Given the description of an element on the screen output the (x, y) to click on. 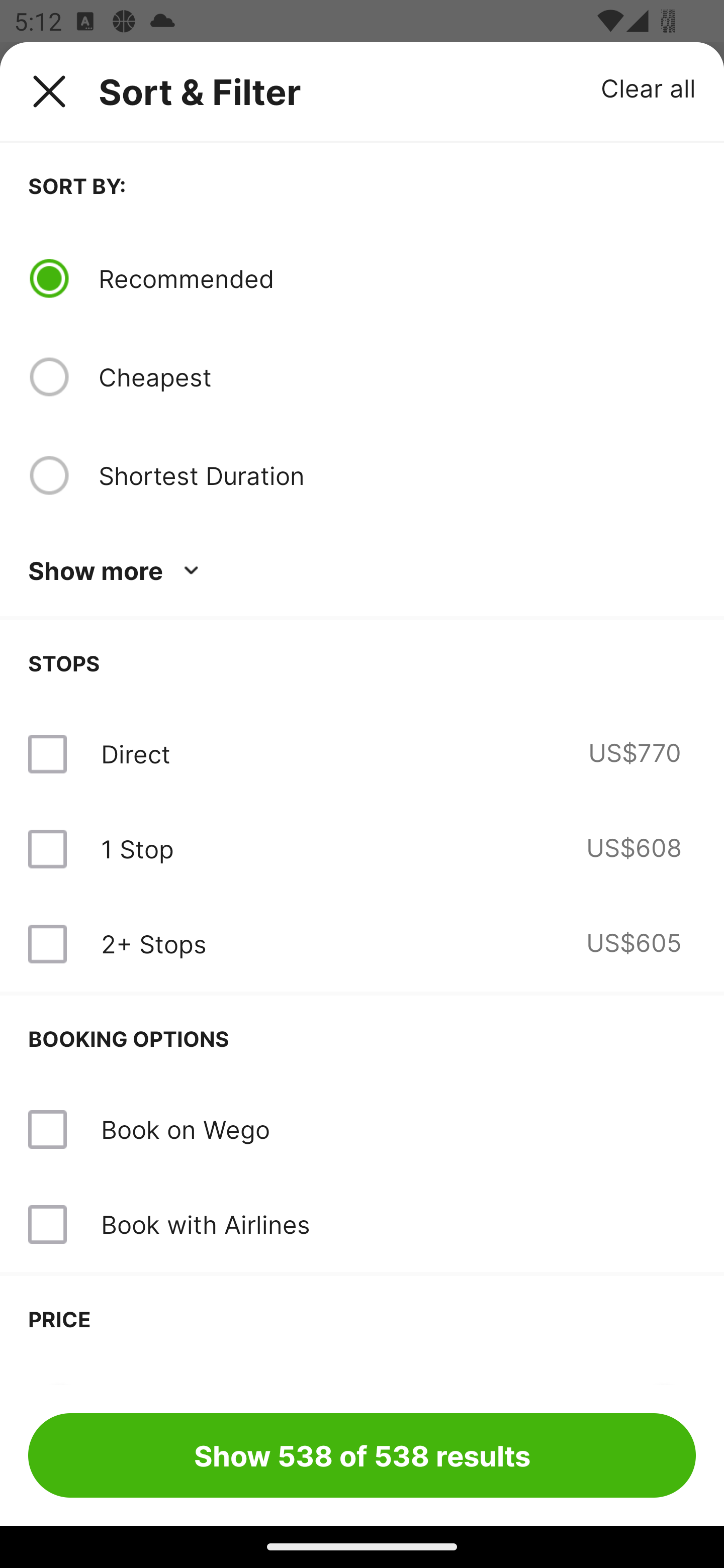
Clear all (648, 87)
Recommended  (396, 278)
Cheapest (396, 377)
Shortest Duration (396, 474)
Show more (116, 570)
Direct US$770 (362, 754)
Direct (135, 753)
1 Stop US$608 (362, 848)
1 Stop (136, 849)
2+ Stops US$605 (362, 943)
2+ Stops (153, 943)
Book on Wego (362, 1129)
Book on Wego (184, 1128)
Book with Airlines (362, 1224)
Book with Airlines (204, 1224)
Show 538 of 538 results (361, 1454)
